Given the description of an element on the screen output the (x, y) to click on. 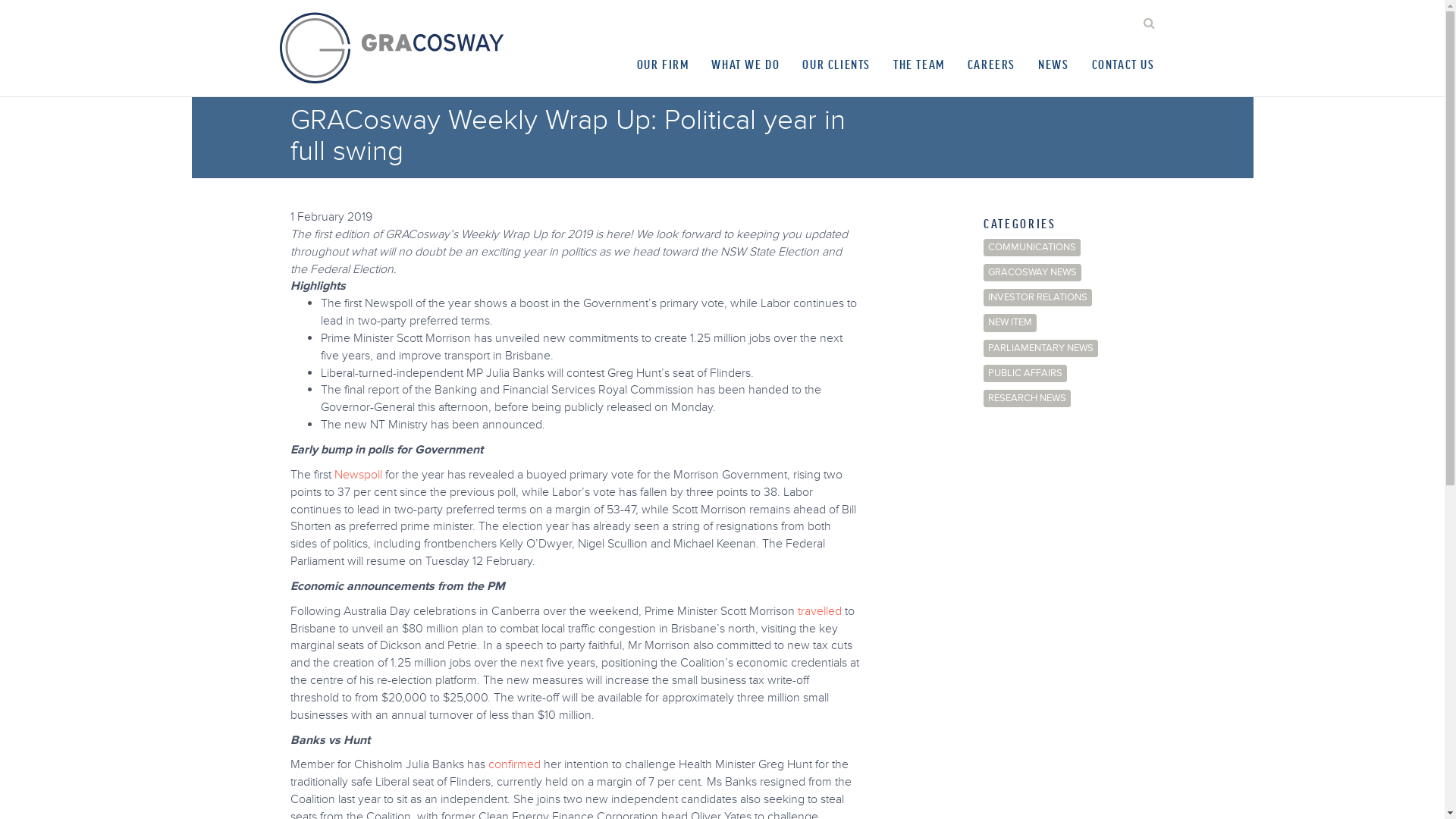
PUBLIC AFFAIRS Element type: text (1024, 373)
OUR CLIENTS Element type: text (835, 64)
CONTACT US Element type: text (1122, 64)
FYI Element type: text (329, 91)
PARLIAMENTARY NEWS Element type: text (1040, 348)
NEW ITEM Element type: text (1009, 322)
WHAT WE DO Element type: text (744, 64)
confirmed Element type: text (514, 763)
OUR FIRM Element type: text (662, 64)
CAREERS Element type: text (991, 64)
COMMUNICATIONS Element type: text (1031, 247)
Newspoll Element type: text (357, 474)
GRACOSWAY NEWS Element type: text (1032, 272)
RESEARCH NEWS Element type: text (1026, 398)
travelled Element type: text (819, 610)
INVESTOR RELATIONS Element type: text (1037, 297)
NEWS Element type: text (1052, 64)
THE TEAM Element type: text (918, 64)
